Given the description of an element on the screen output the (x, y) to click on. 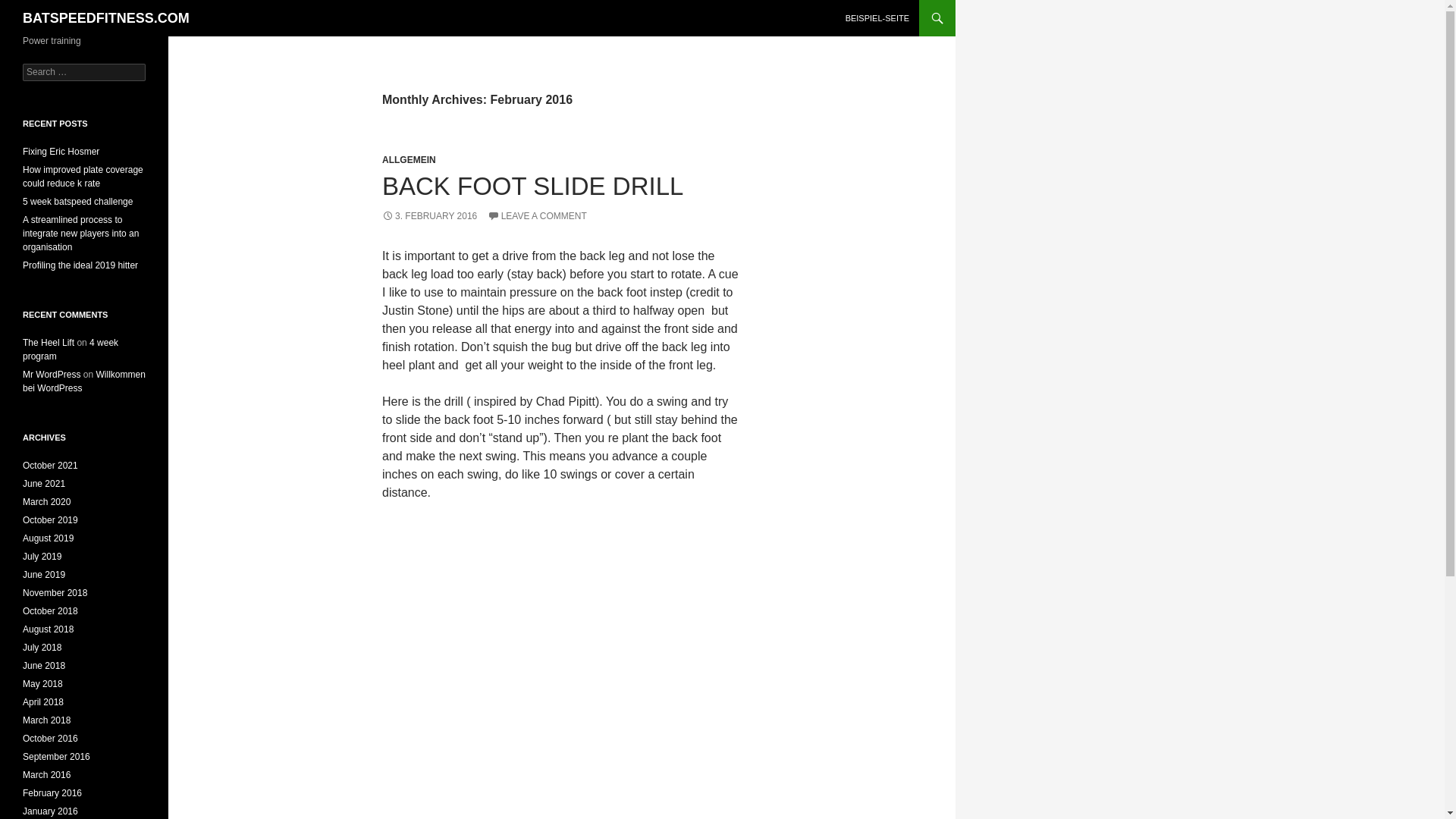
October 2019 (50, 520)
Search for: (84, 72)
August 2018 (48, 629)
April 2018 (43, 701)
July 2018 (42, 647)
March 2018 (46, 719)
October 2018 (50, 611)
August 2019 (48, 538)
February 2016 (52, 792)
